Given the description of an element on the screen output the (x, y) to click on. 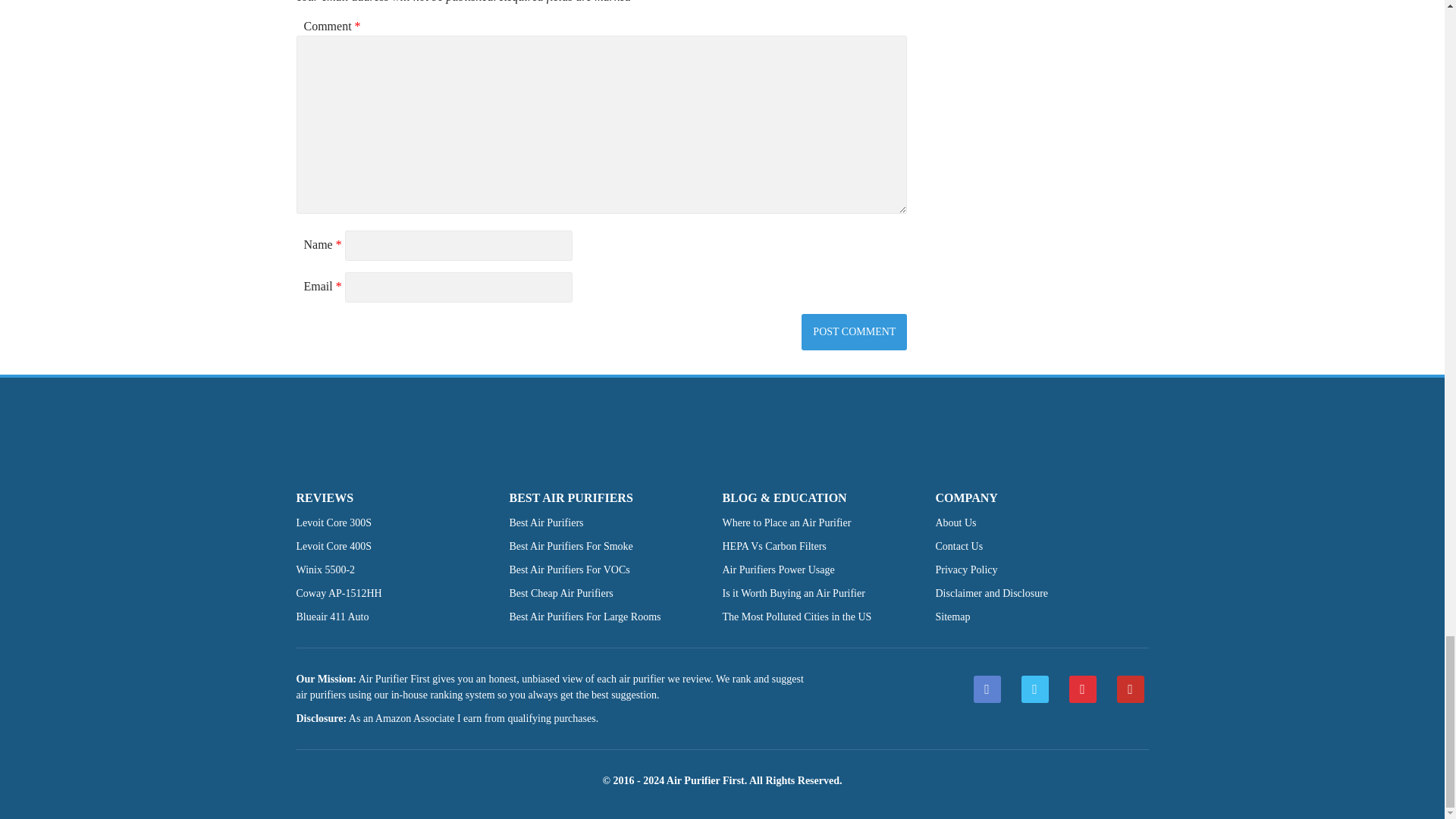
Post Comment (854, 331)
Best Air Purifiers (546, 522)
Best Air Purifiers For VOCs (569, 569)
Levoit Core 300S Air Purifier Review (333, 522)
Winix 5500-2 Air Purifier Review (325, 569)
Blueair 411 Auto Air Purifier Review (331, 616)
Coway AP-1512HH Air Purifier Review (338, 593)
Best Air Purifiers For Smoke (571, 546)
Best Cheap Air Purifiers (560, 593)
Levoit Core 400S Air Purifier Review (333, 546)
